Given the description of an element on the screen output the (x, y) to click on. 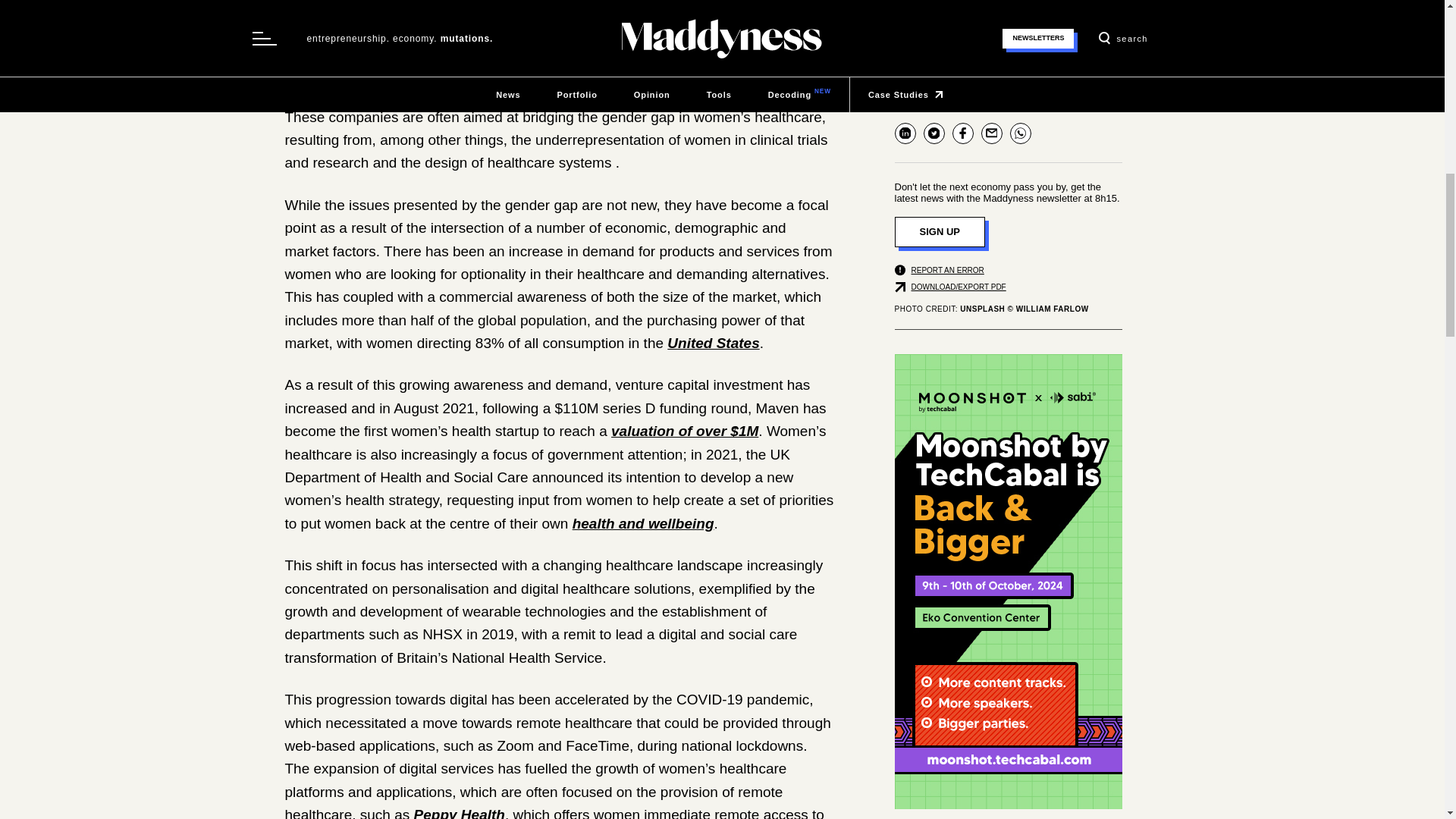
United States (712, 342)
